Given the description of an element on the screen output the (x, y) to click on. 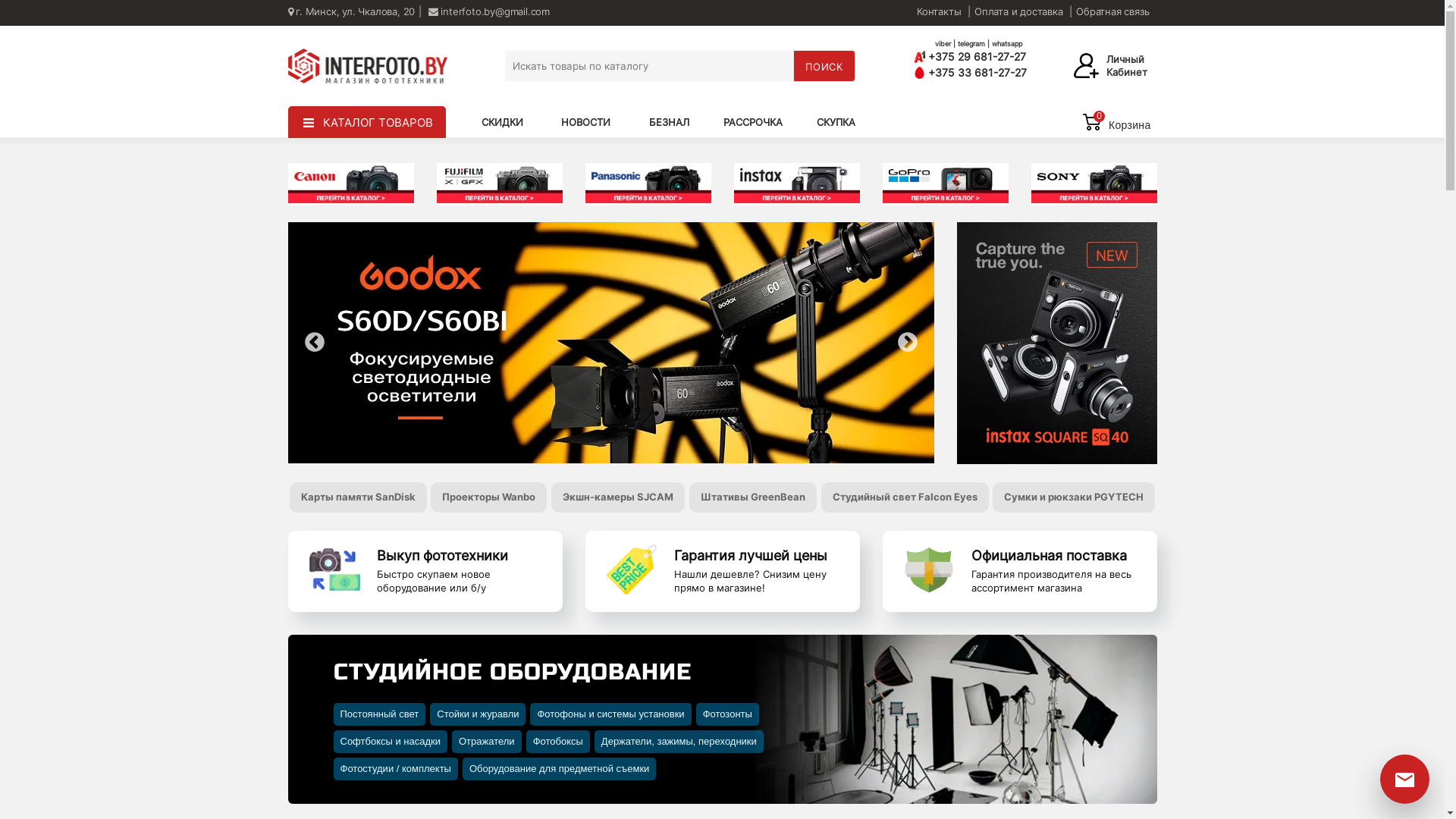
Panasonic Element type: hover (648, 183)
interfoto.by@gmail.com Element type: text (488, 11)
Fujifilm Element type: hover (499, 183)
Fujifilm Instax Element type: hover (796, 183)
Previous Element type: text (313, 342)
Sony Element type: hover (1094, 183)
GoPro Element type: hover (945, 183)
Next Element type: text (906, 342)
+375 33 681-27-27 Element type: text (969, 71)
Canon Element type: hover (351, 183)
+375 29 681-27-27 Element type: text (991, 56)
